Given the description of an element on the screen output the (x, y) to click on. 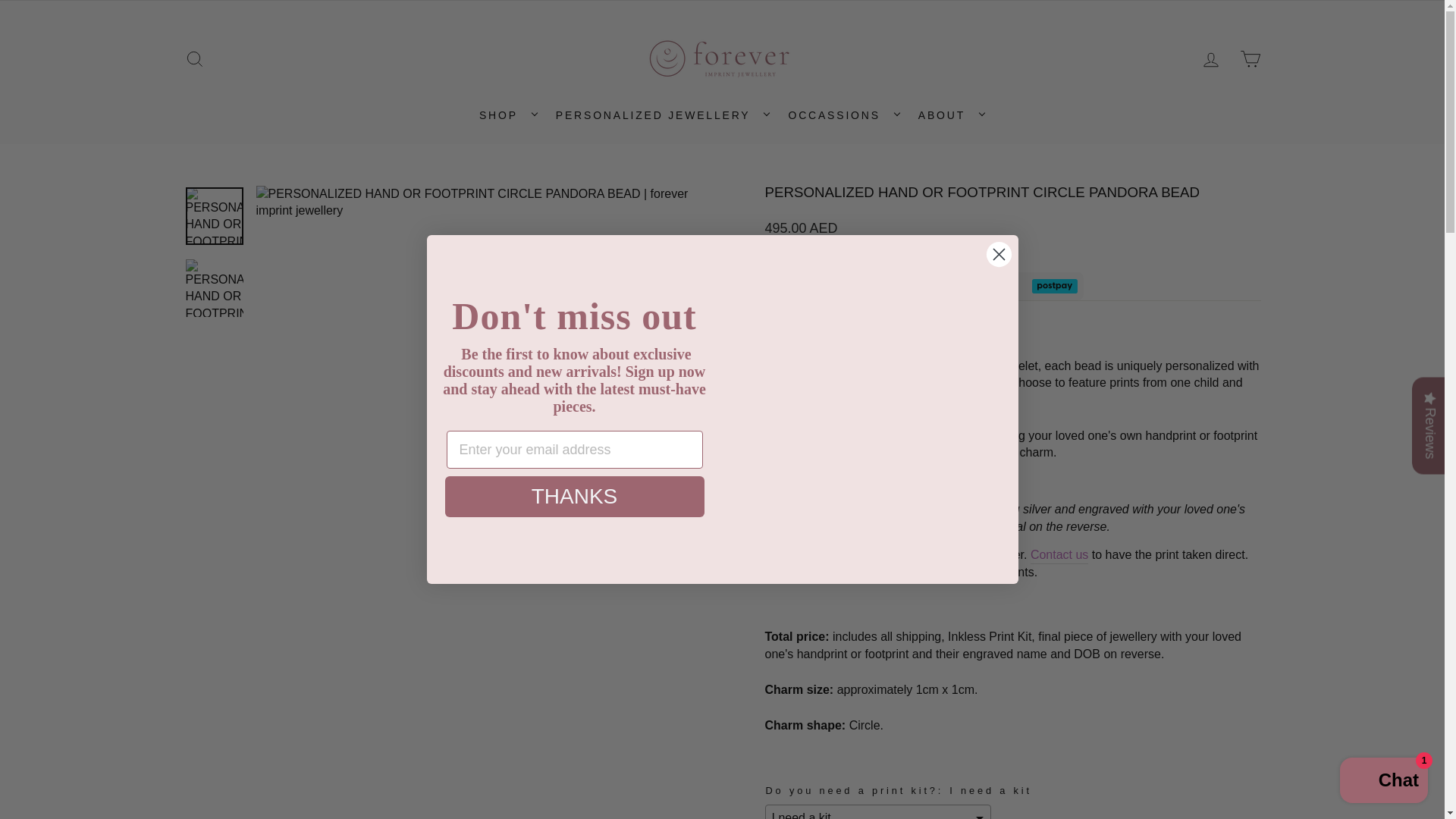
Contact us (1058, 555)
Shopify online store chat (1383, 781)
LOG IN (1210, 58)
SEARCH (194, 58)
